Given the description of an element on the screen output the (x, y) to click on. 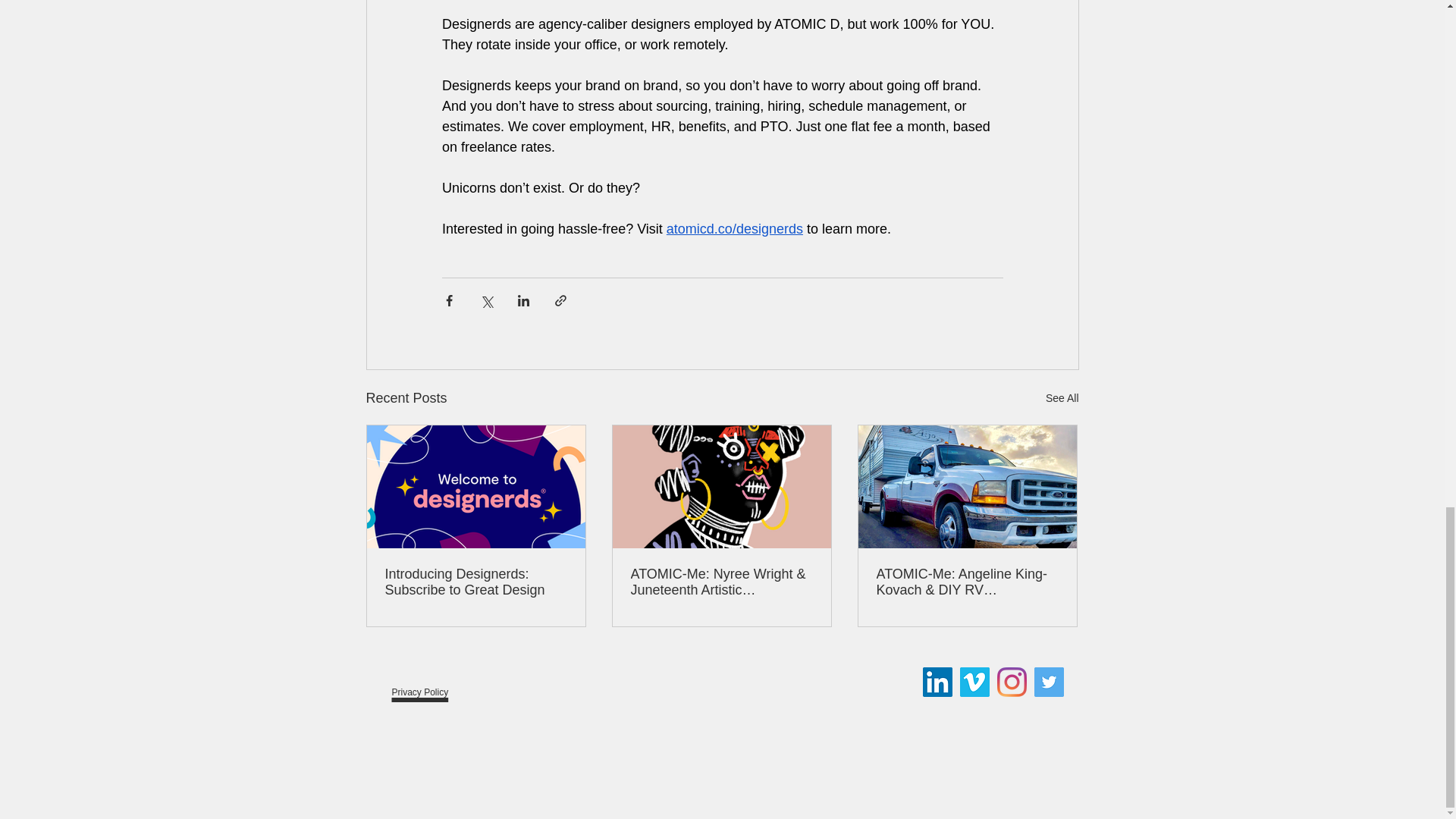
Privacy Policy (419, 679)
See All (1061, 398)
Introducing Designerds: Subscribe to Great Design (476, 582)
